Given the description of an element on the screen output the (x, y) to click on. 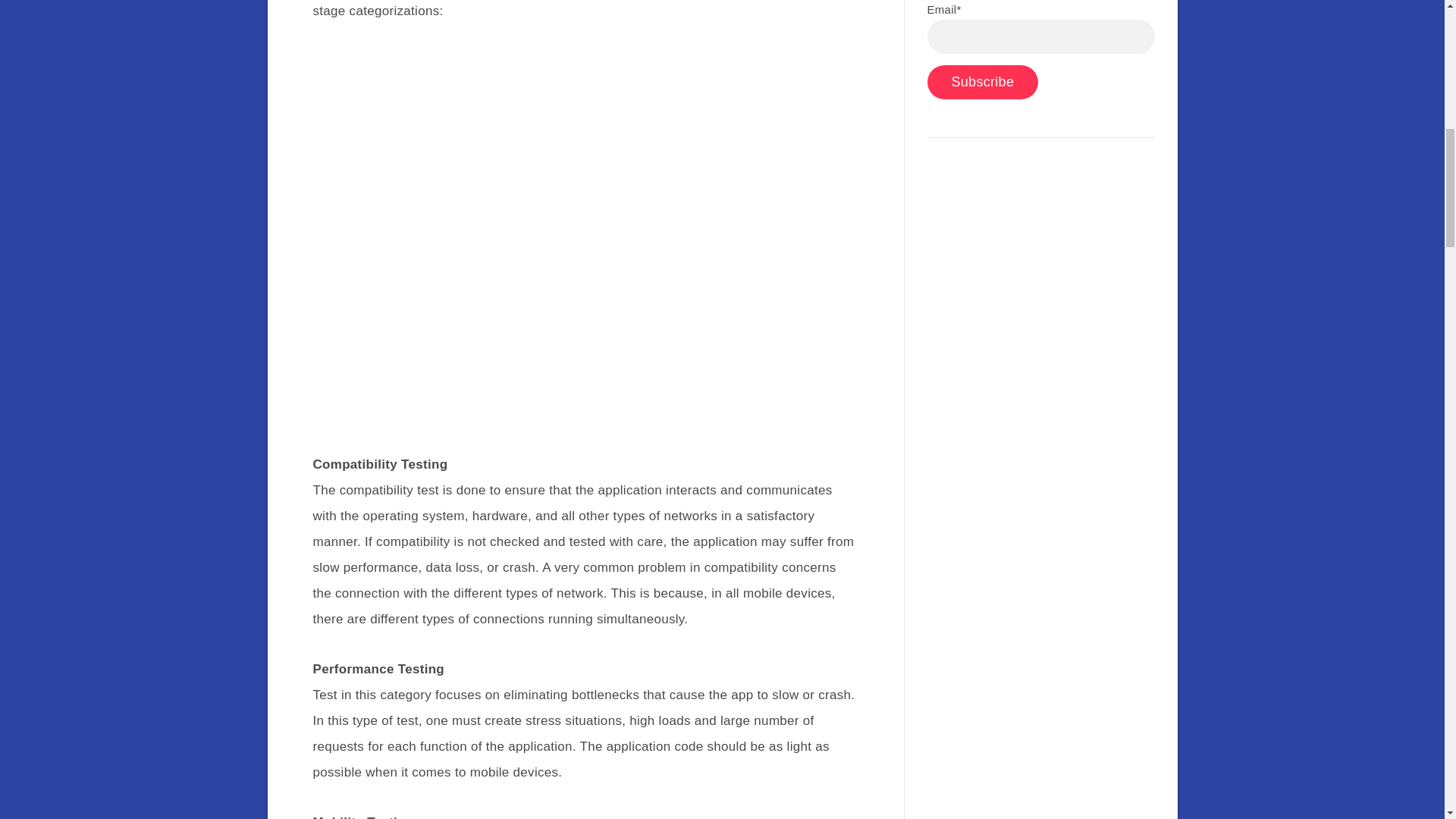
Subscribe (982, 82)
